Given the description of an element on the screen output the (x, y) to click on. 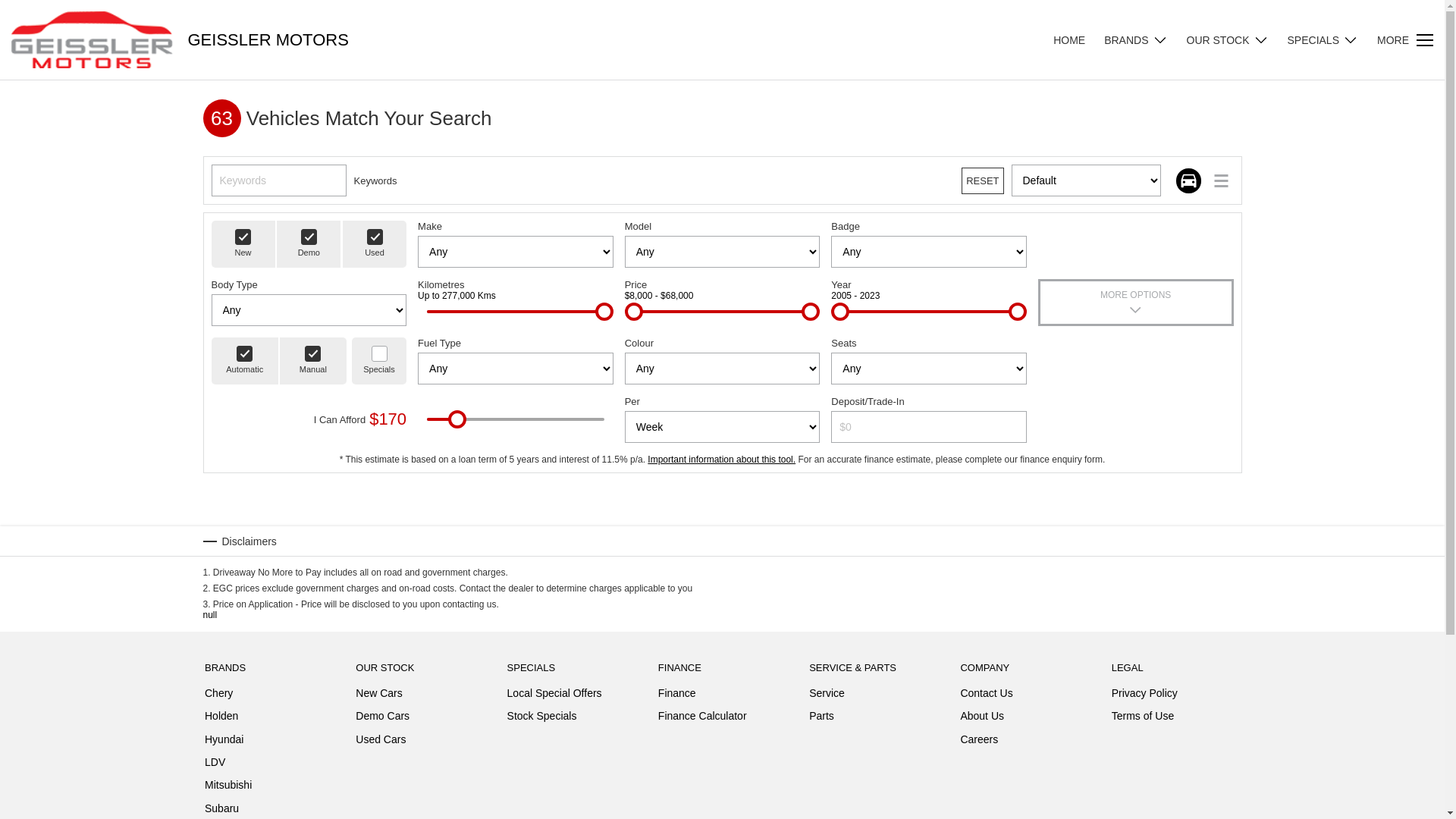
OUR STOCK Element type: text (1227, 39)
Used Cars Element type: text (380, 739)
About Us Element type: text (982, 718)
RESET Element type: text (982, 179)
Mitsubishi Element type: text (227, 787)
MORE OPTIONS Element type: text (1135, 302)
HOME Element type: text (1078, 39)
GEISSLER MOTORS Element type: text (268, 40)
Terms of Use Element type: text (1142, 715)
LDV Element type: text (214, 764)
Finance Calculator Element type: text (702, 715)
Chery Element type: text (218, 695)
Hyundai Element type: text (223, 742)
SPECIALS Element type: text (1322, 39)
Finance Element type: text (677, 695)
Holden Element type: text (221, 718)
MORE Element type: text (1405, 39)
Parts Element type: text (821, 715)
Careers Element type: text (978, 739)
Subaru Element type: text (221, 808)
Contact Us Element type: text (986, 695)
Local Special Offers Element type: text (554, 695)
BRANDS Element type: text (1135, 39)
Service Element type: text (826, 695)
Privacy Policy Element type: text (1144, 695)
Important information about this tool. Element type: text (721, 459)
Stock Specials Element type: text (542, 715)
Demo Cars Element type: text (382, 718)
New Cars Element type: text (378, 695)
